Given the description of an element on the screen output the (x, y) to click on. 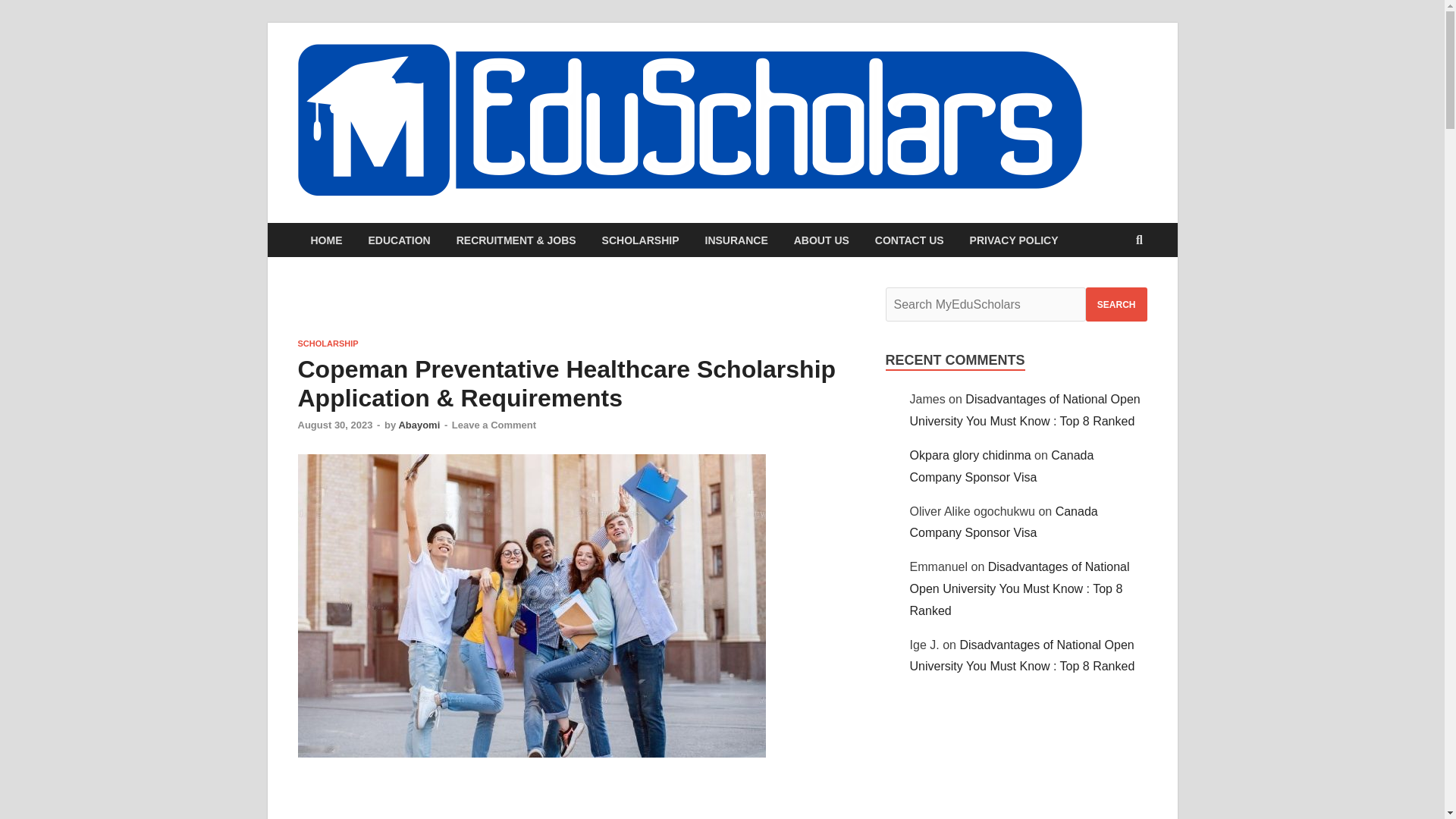
ABOUT US (820, 239)
SCHOLARSHIP (327, 343)
HOME (326, 239)
Abayomi (418, 424)
INSURANCE (735, 239)
EDUCATION (398, 239)
PRIVACY POLICY (1013, 239)
Leave a Comment (493, 424)
CONTACT US (908, 239)
Myeduscholar (1184, 74)
SCHOLARSHIP (641, 239)
August 30, 2023 (334, 424)
